Given the description of an element on the screen output the (x, y) to click on. 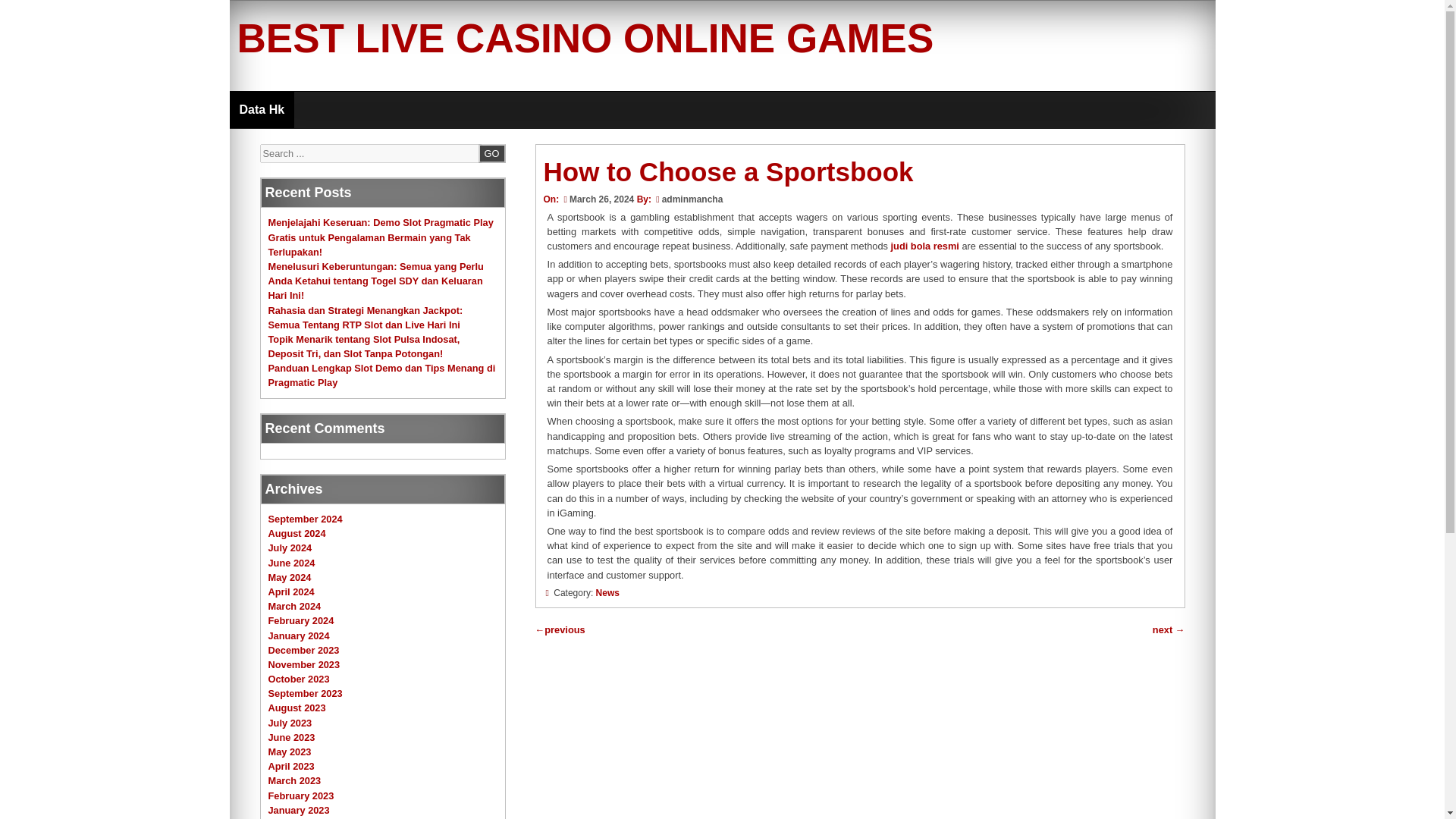
July 2024 (290, 547)
June 2023 (291, 737)
September 2024 (304, 518)
March 2024 (294, 605)
November 2023 (303, 664)
BEST LIVE CASINO ONLINE GAMES (584, 37)
April 2024 (290, 591)
October 2023 (298, 678)
